Given the description of an element on the screen output the (x, y) to click on. 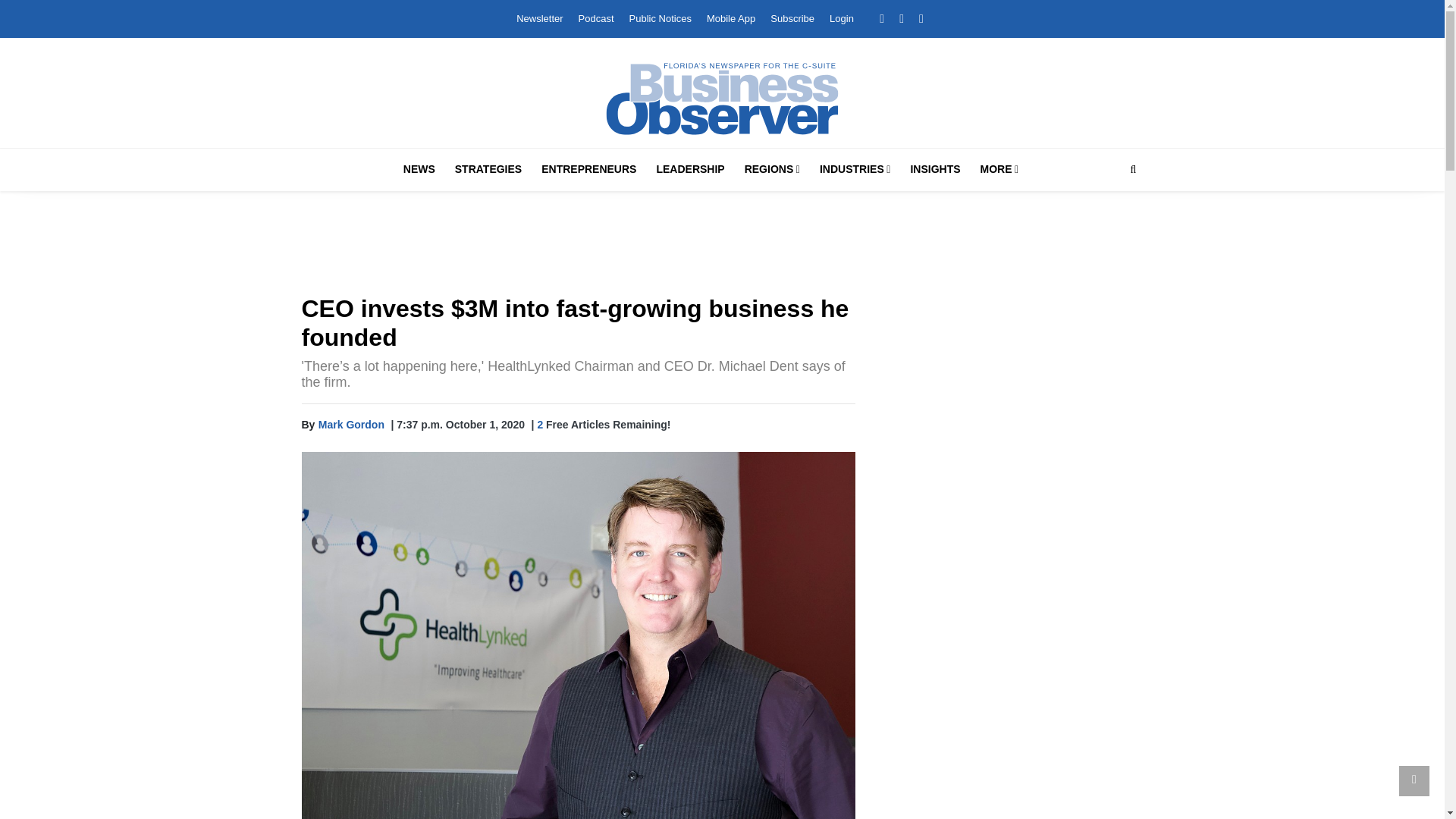
INSIGHTS (935, 169)
INDUSTRIES (855, 169)
Newsletter (539, 18)
Mobile App (730, 18)
Login (841, 18)
MORE (999, 169)
Subscribe (791, 18)
Podcast (596, 18)
LEADERSHIP (689, 169)
STRATEGIES (487, 169)
3rd party ad content (1010, 612)
REGIONS (772, 169)
ENTREPRENEURS (588, 169)
Public Notices (659, 18)
3rd party ad content (722, 246)
